Given the description of an element on the screen output the (x, y) to click on. 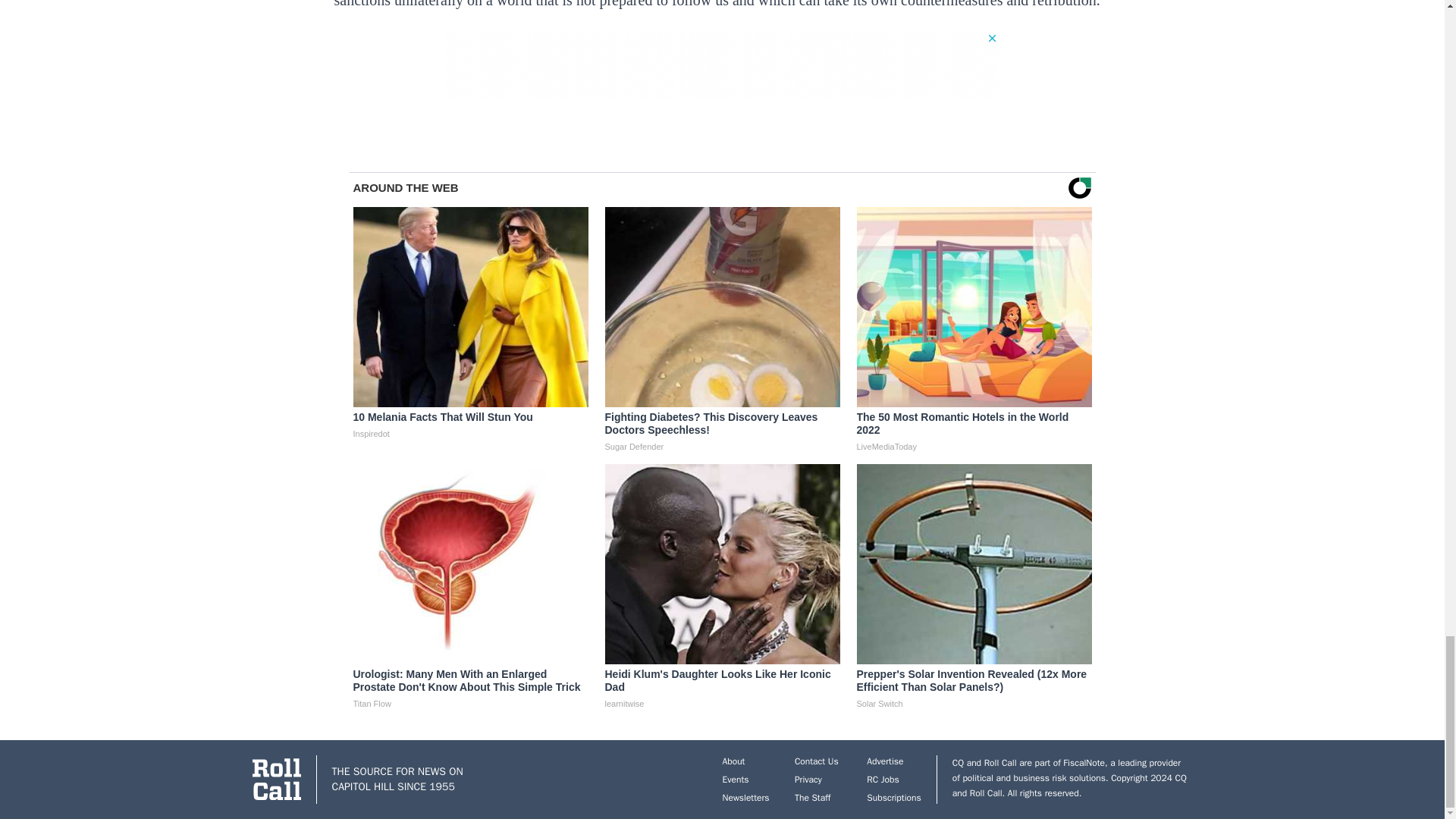
3rd party ad content (721, 65)
